Given the description of an element on the screen output the (x, y) to click on. 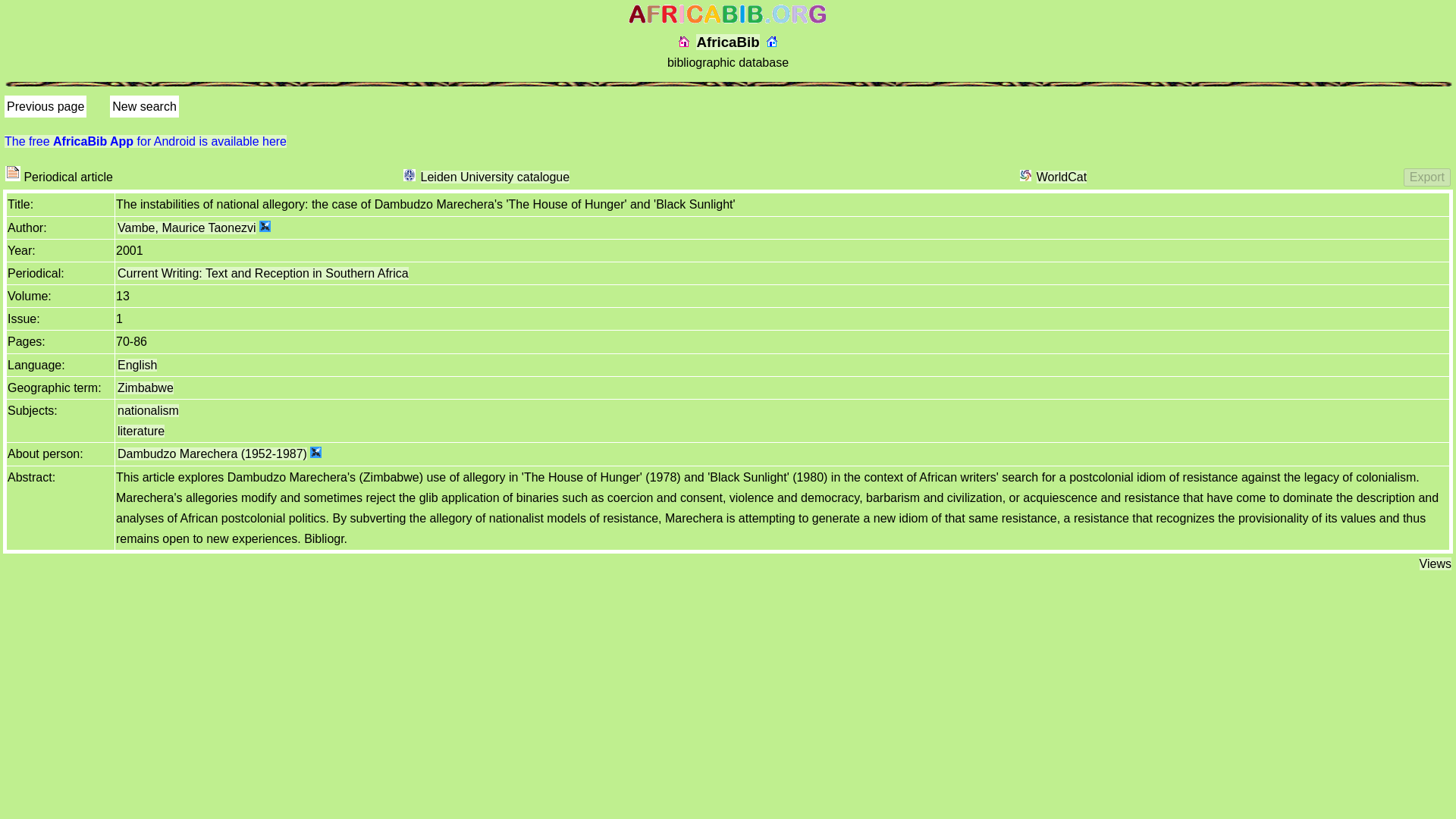
Vambe, Maurice Taonezvi (186, 227)
New search (144, 106)
Go to AfricaBib home (683, 41)
AfricaBib (726, 41)
WorldCat catalogue (1025, 174)
WorldCat (1061, 176)
Periodical article (12, 173)
Previous page (45, 106)
ISNI (315, 451)
nationalism (148, 410)
